Given the description of an element on the screen output the (x, y) to click on. 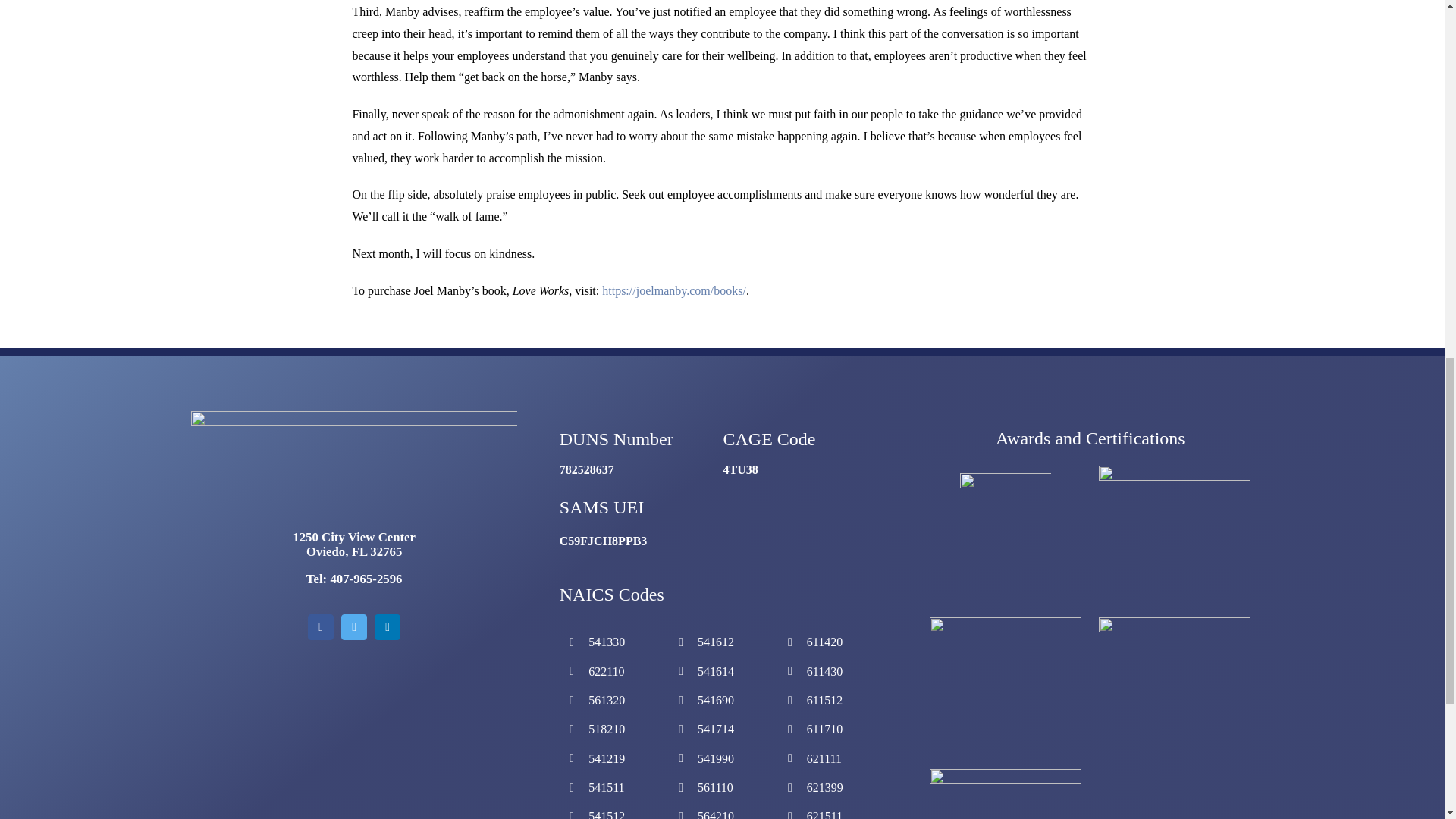
LinkedIn (387, 626)
Facebook (320, 626)
STS-wBackground (353, 470)
Twitter (353, 626)
